Given the description of an element on the screen output the (x, y) to click on. 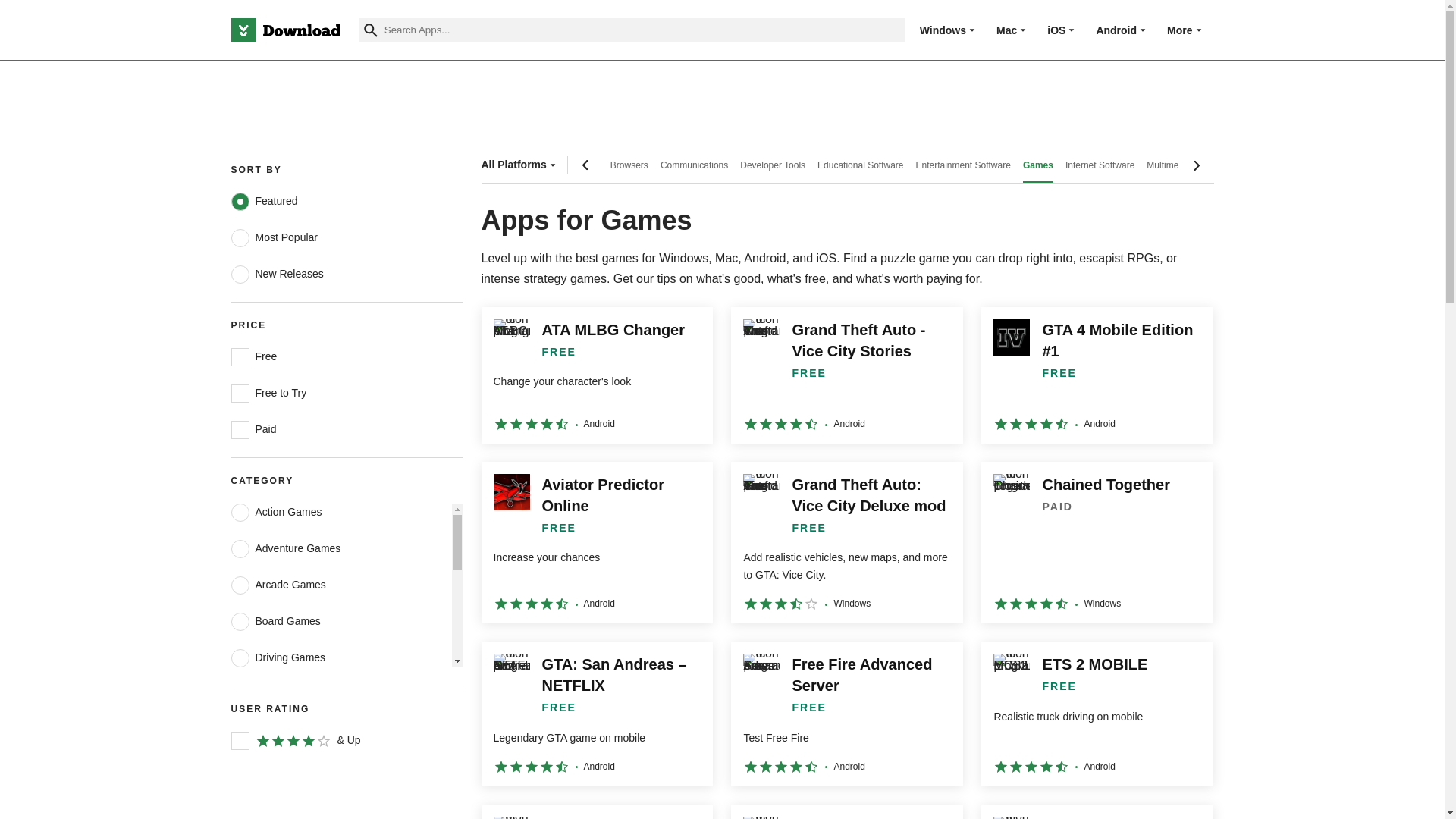
Chained Together (1096, 542)
4up (239, 741)
Grand Theft Auto: Vice City Deluxe mod (846, 542)
ETS 2 MOBILE (1096, 713)
games-simulation (239, 803)
games-kids (239, 730)
games-adventure (239, 548)
Mac (1005, 29)
games-casual (239, 585)
free (239, 357)
ATA MLBG Changer (596, 375)
mostPopular (239, 238)
Euro Truck Simulator 2 (596, 811)
games-driving-racing (239, 658)
SIGMA FF (846, 811)
